Given the description of an element on the screen output the (x, y) to click on. 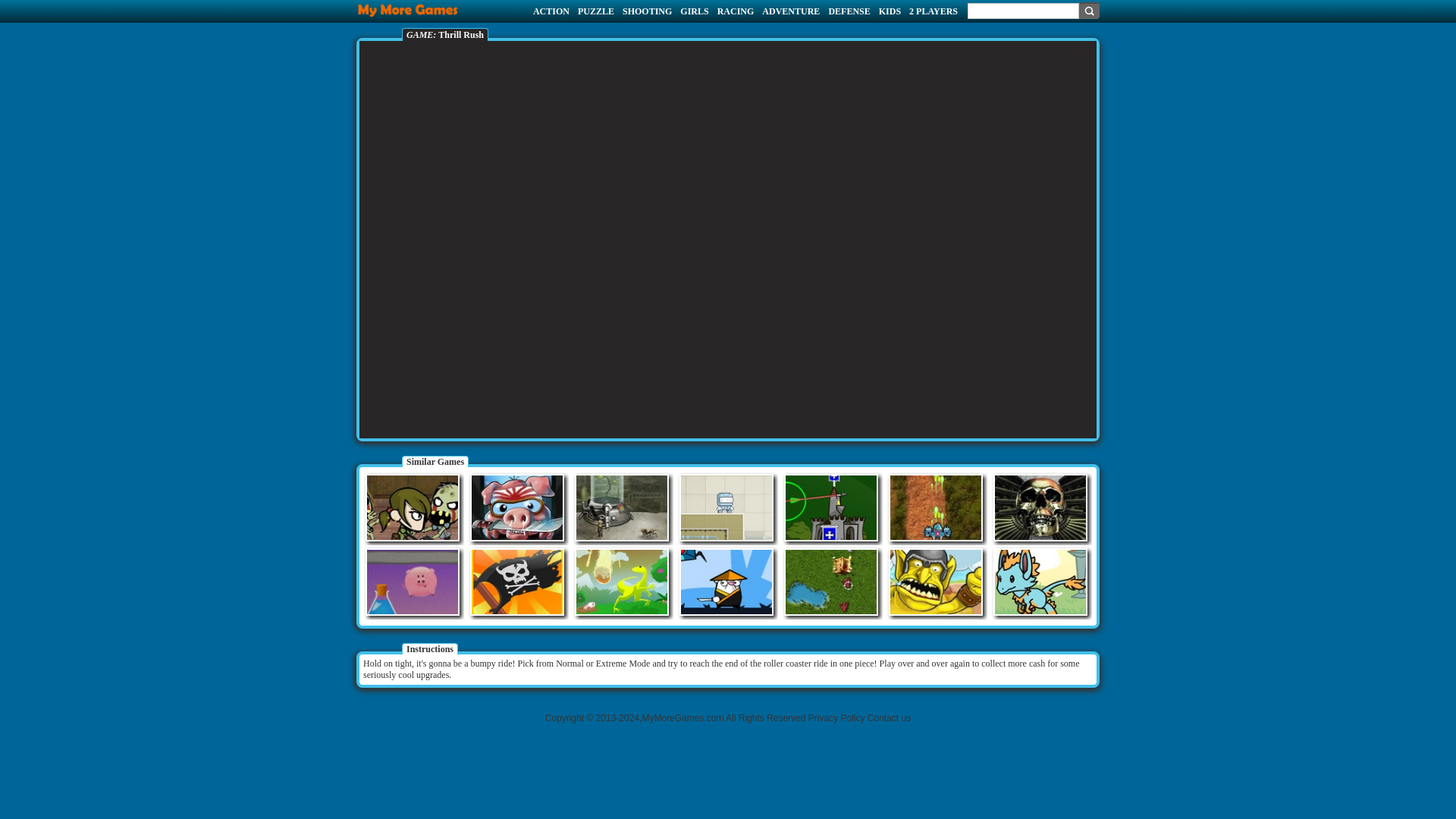
KIDS (890, 10)
Nuclear Plant (621, 507)
GIRLS (693, 10)
Contact us (889, 717)
Go Go Goblin (935, 581)
2 PLAYERS (933, 10)
Days 2 Die (412, 507)
Planetary Wars (935, 507)
Kamikaze Pigs (517, 507)
RACING (735, 10)
SHOOTING (647, 10)
ACTION (550, 10)
Mooo Twooo! Genetically Enhanced (412, 581)
DEFENSE (848, 10)
FranticFrigates (517, 581)
